Given the description of an element on the screen output the (x, y) to click on. 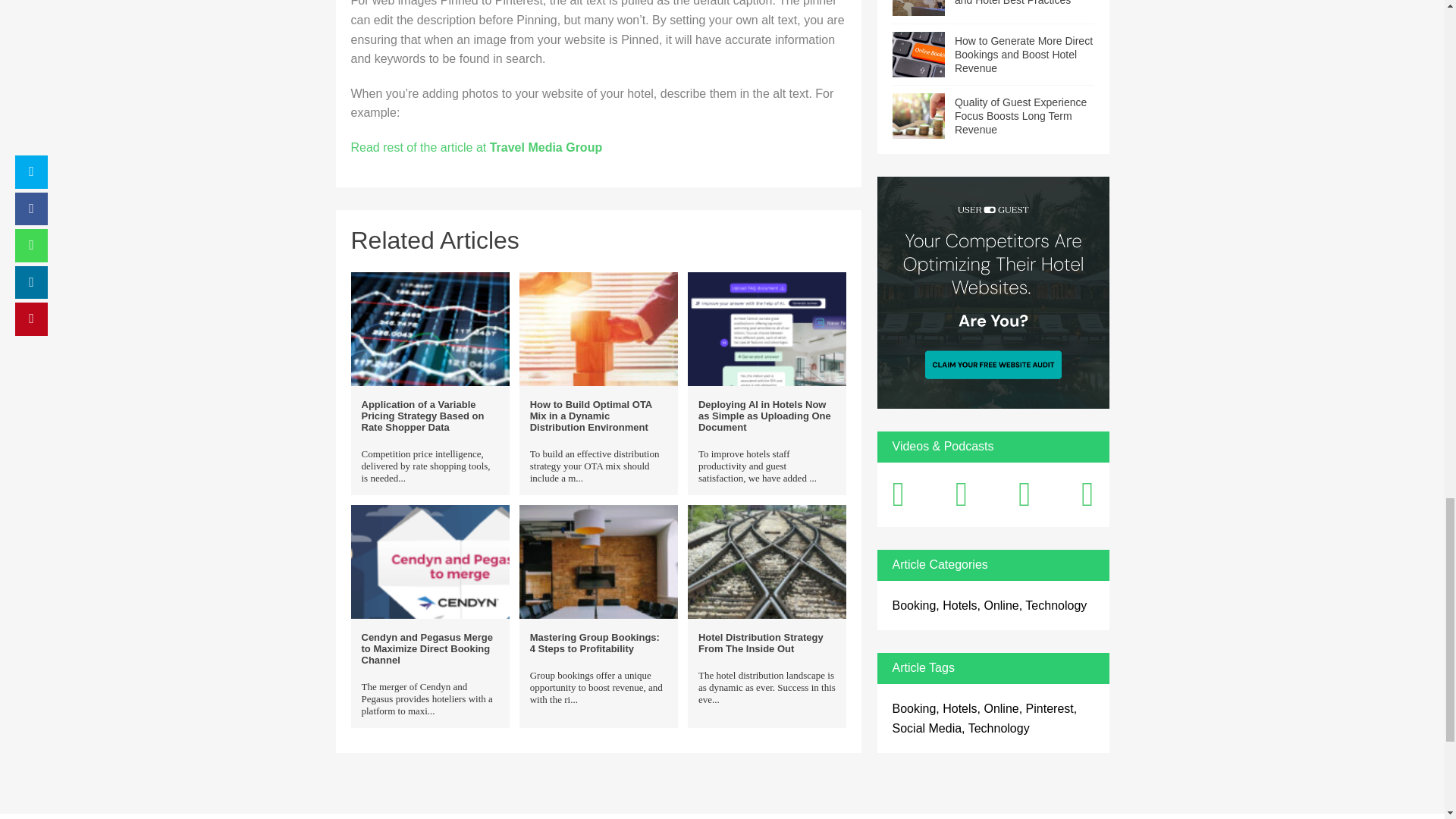
Read rest of the article at Travel Media Group (476, 146)
